Given the description of an element on the screen output the (x, y) to click on. 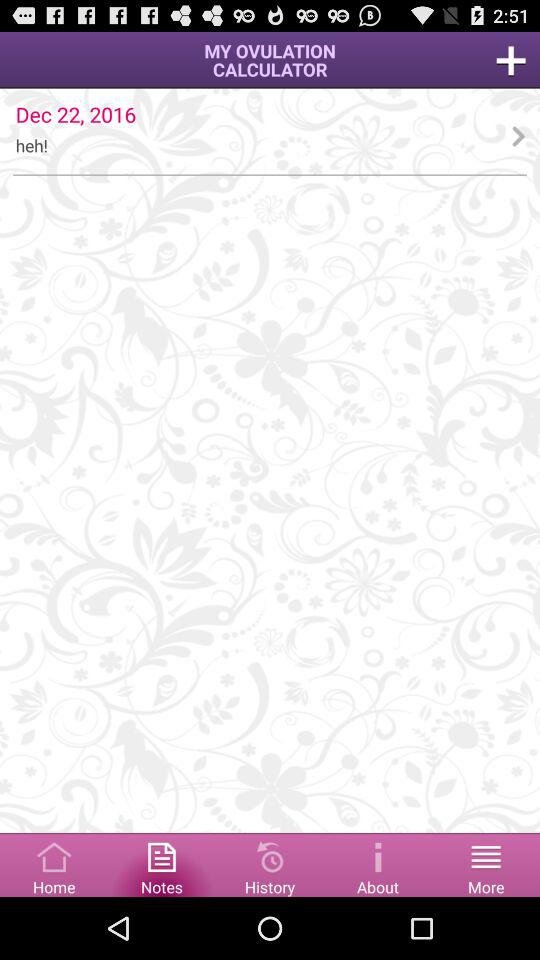
go to history (270, 864)
